Given the description of an element on the screen output the (x, y) to click on. 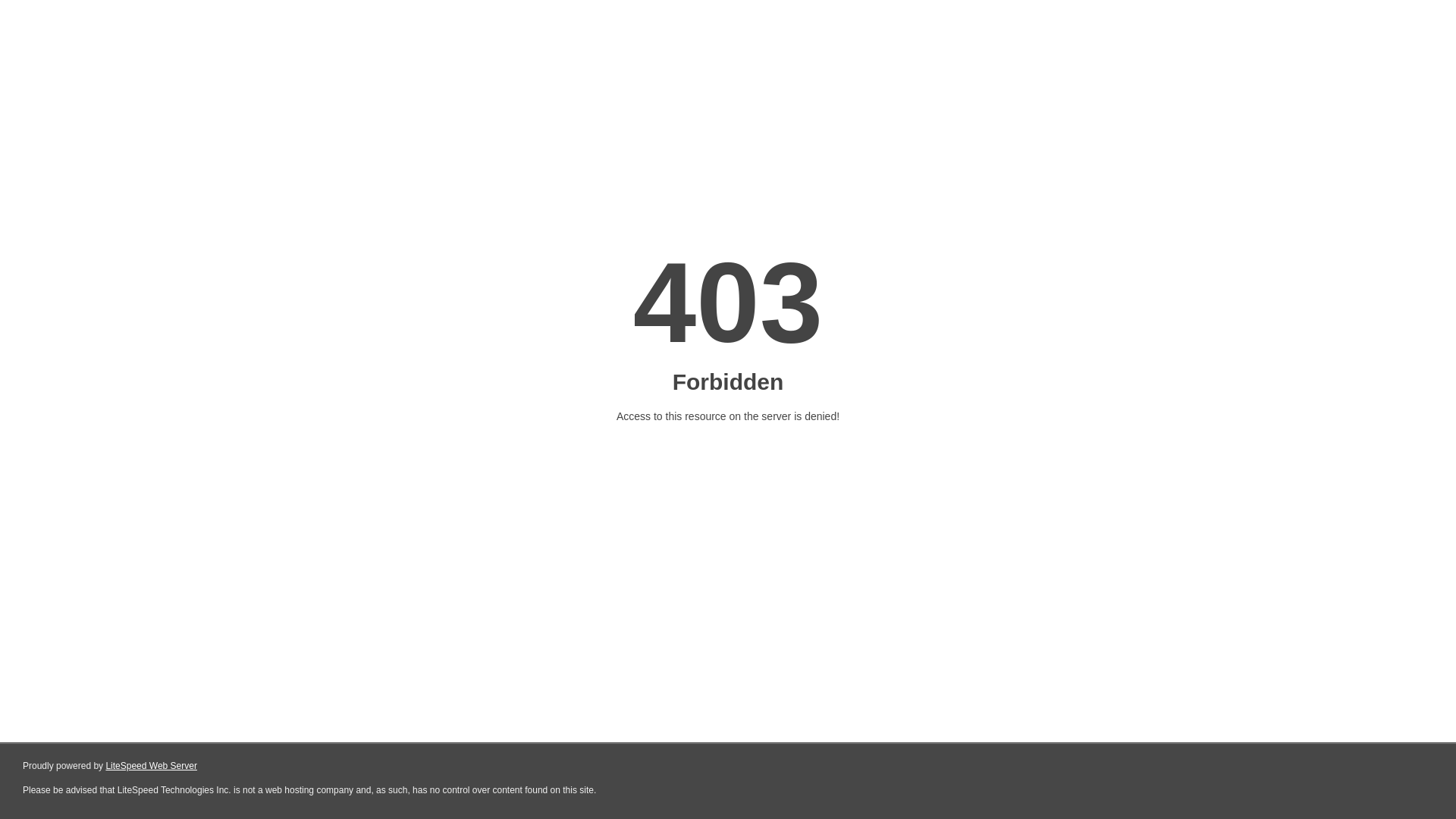
LiteSpeed Web Server (150, 765)
